Given the description of an element on the screen output the (x, y) to click on. 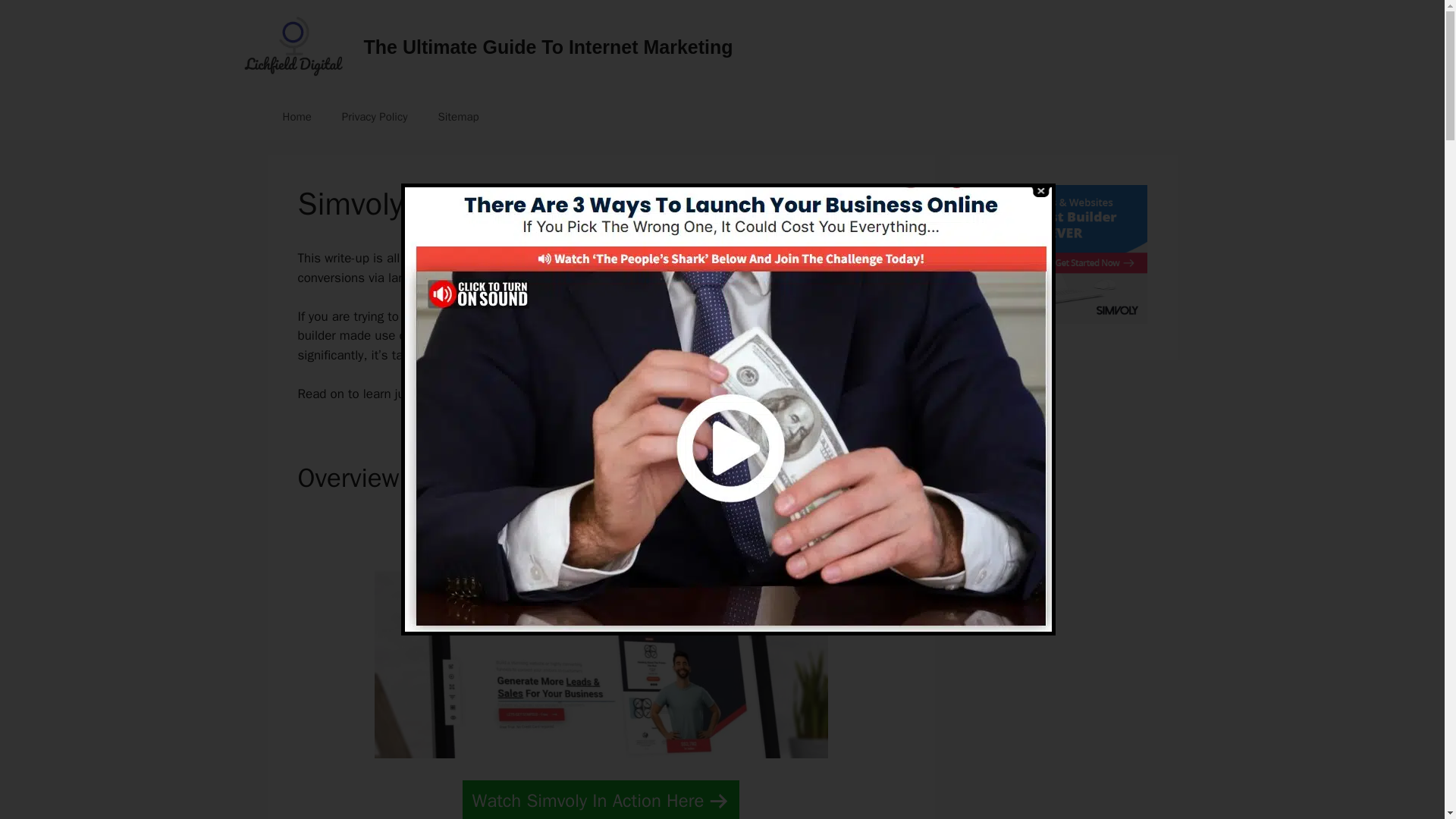
Simvoly Builder (1063, 319)
The Ultimate Guide To Internet Marketing (548, 46)
Home (296, 116)
Sitemap (457, 116)
Close (1039, 191)
Watch Simvoly In Action Here (601, 799)
Simvoly (577, 316)
Privacy Policy (374, 116)
